Given the description of an element on the screen output the (x, y) to click on. 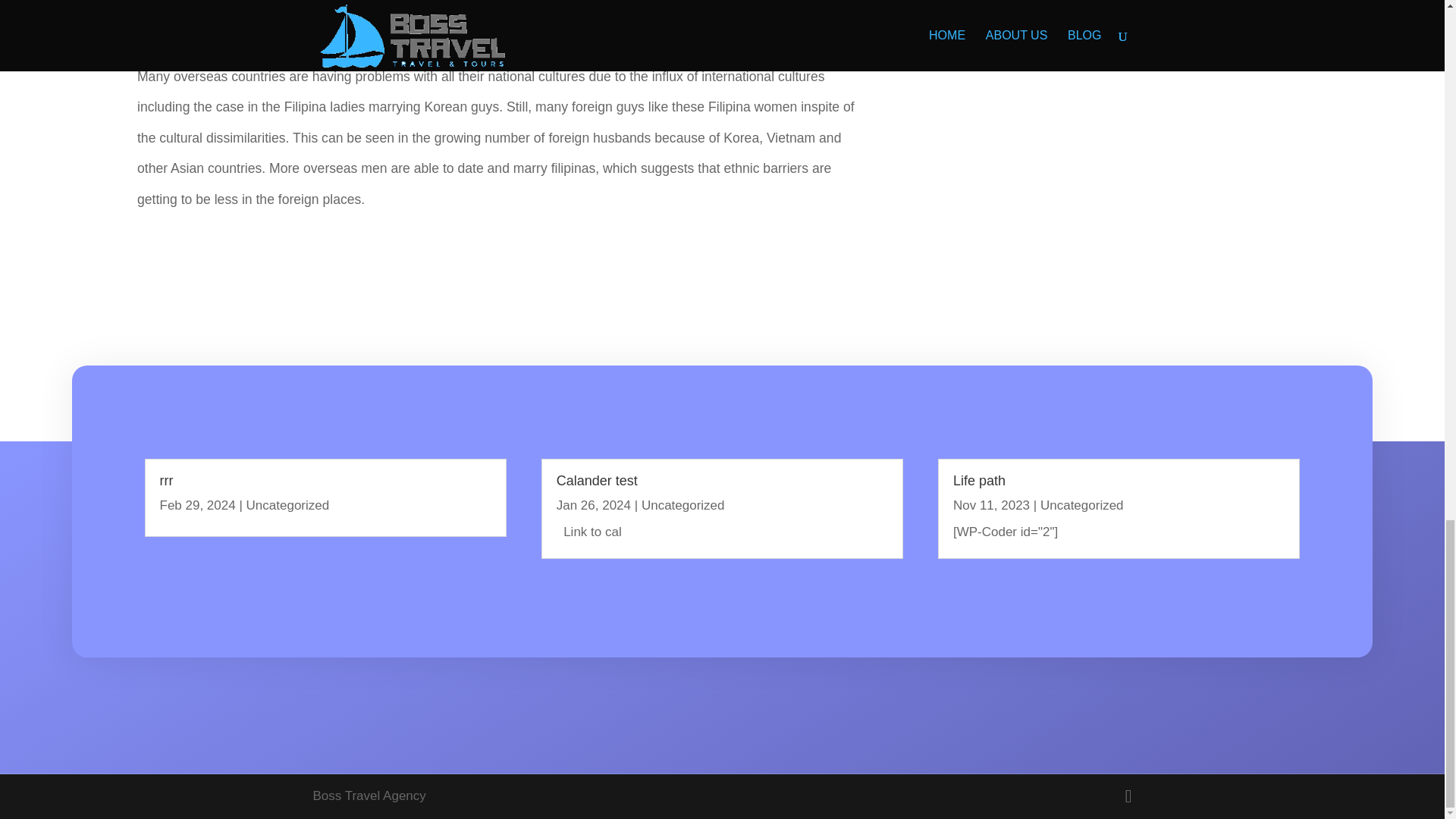
Life path (979, 480)
Uncategorized (1082, 504)
Uncategorized (683, 504)
rrr (165, 480)
Uncategorized (288, 504)
Calander test (596, 480)
